Given the description of an element on the screen output the (x, y) to click on. 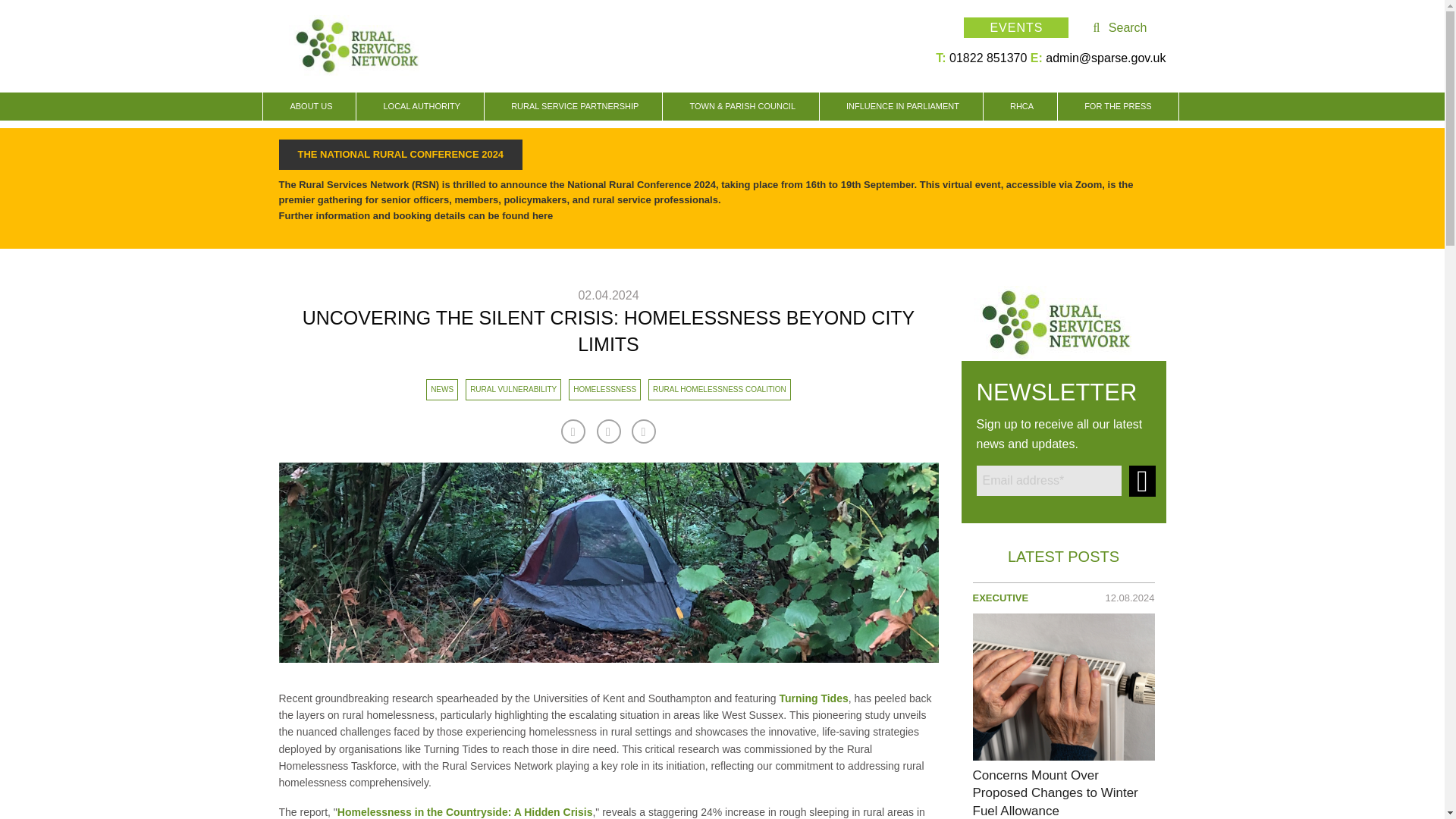
Linkedin (608, 431)
Facebook (573, 431)
Linkedin (643, 431)
